Given the description of an element on the screen output the (x, y) to click on. 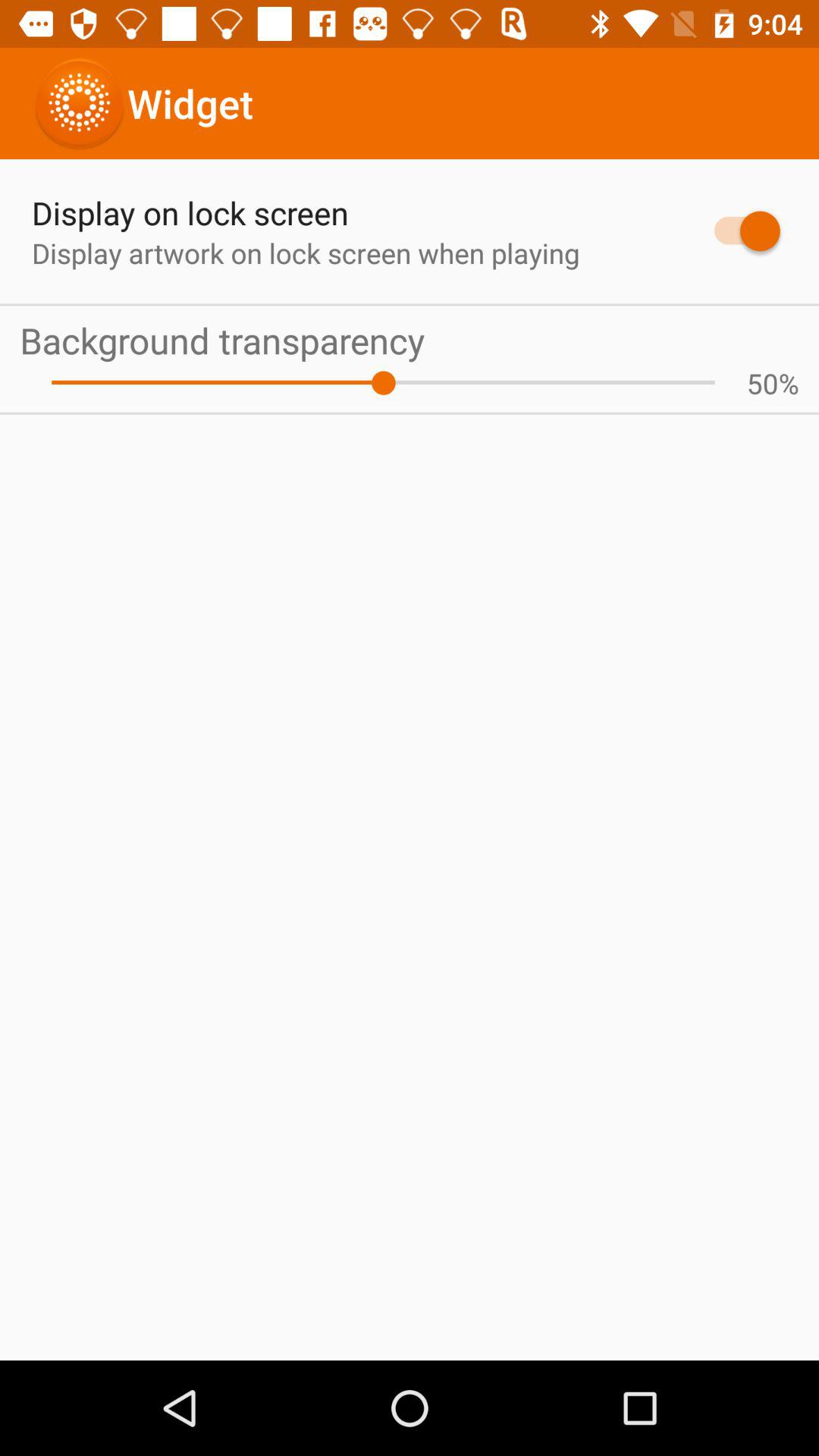
turn off the item above background transparency app (739, 231)
